Given the description of an element on the screen output the (x, y) to click on. 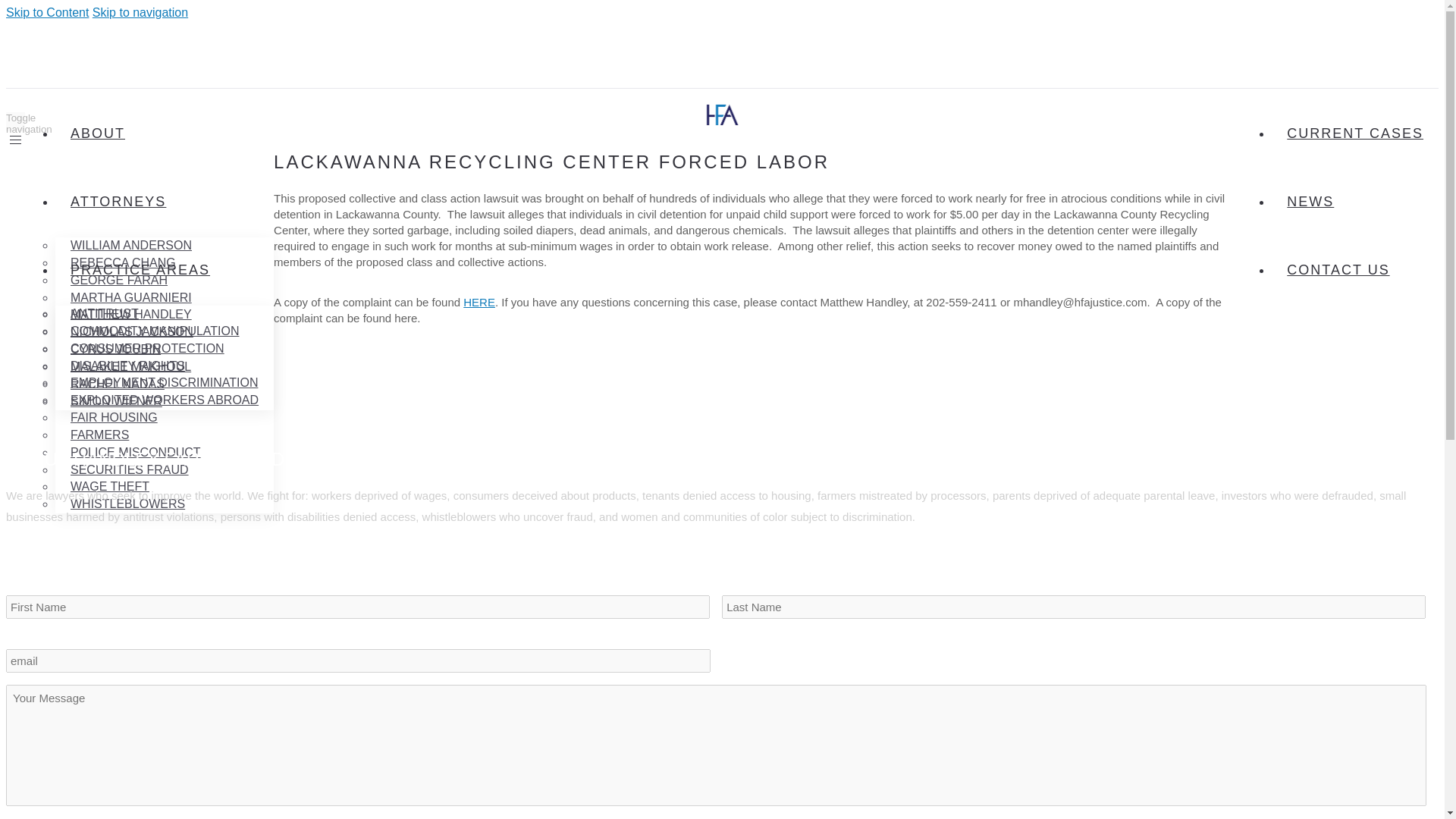
FARMERS (99, 434)
CYRUS JOUBIN (115, 348)
NEWS (1310, 201)
EXPLOITED WORKERS ABROAD (164, 399)
ANTITRUST (104, 313)
NICHOLAS JACKSON (131, 331)
ATTORNEYS (118, 201)
HERE (479, 301)
WAGE THEFT (109, 486)
RACHEL NADAS (117, 383)
MARTHA GUARNIERI (130, 297)
SECURITIES FRAUD (129, 469)
FAIR HOUSING (114, 416)
Skip to navigation (140, 11)
GEORGE FARAH (119, 279)
